Given the description of an element on the screen output the (x, y) to click on. 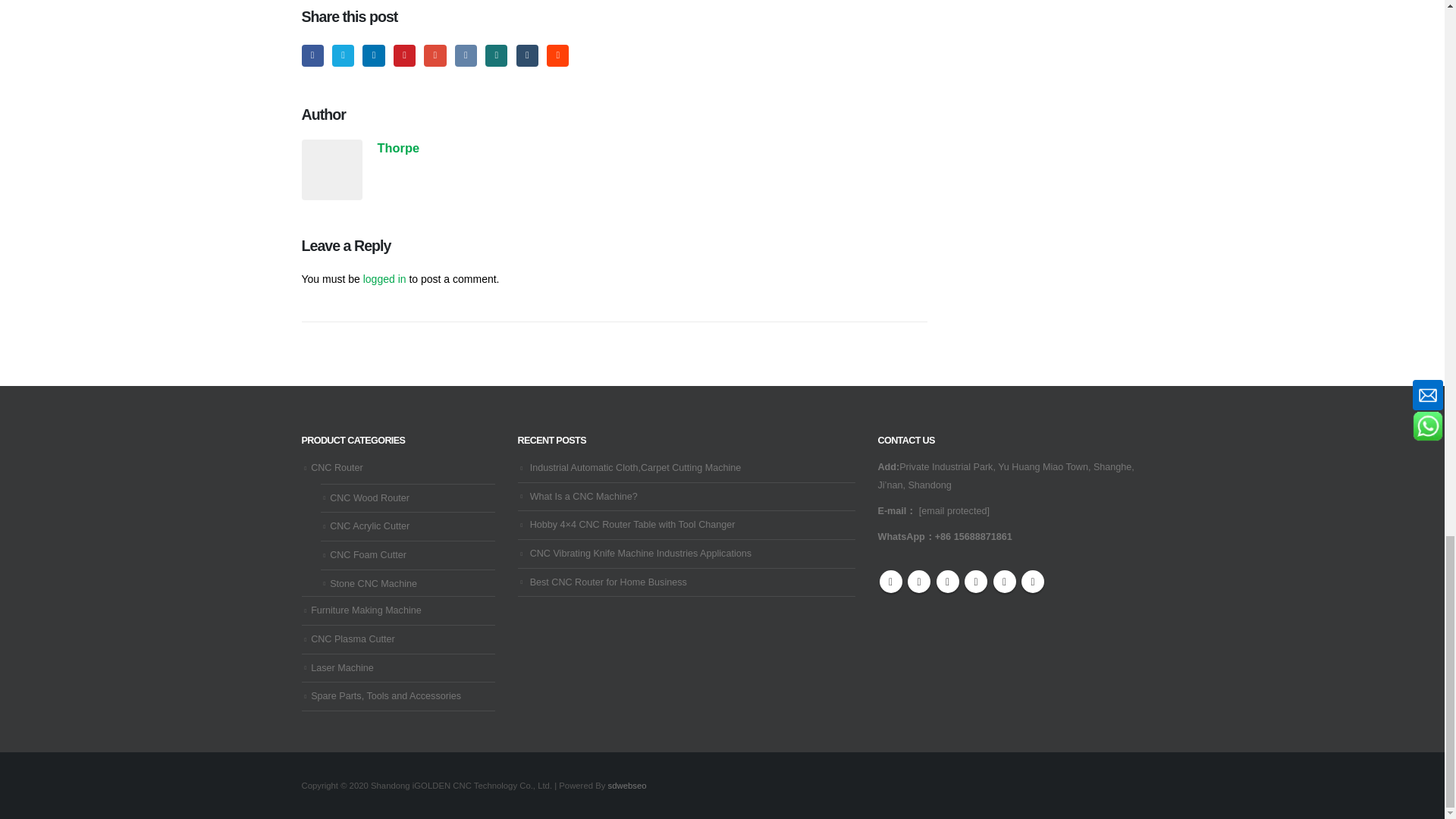
Twitter (342, 55)
Reddit (558, 55)
Tumblr (527, 55)
VK (465, 55)
Email (434, 55)
LinkedIn (373, 55)
Xing (495, 55)
Facebook (312, 55)
Pinterest (403, 55)
